Given the description of an element on the screen output the (x, y) to click on. 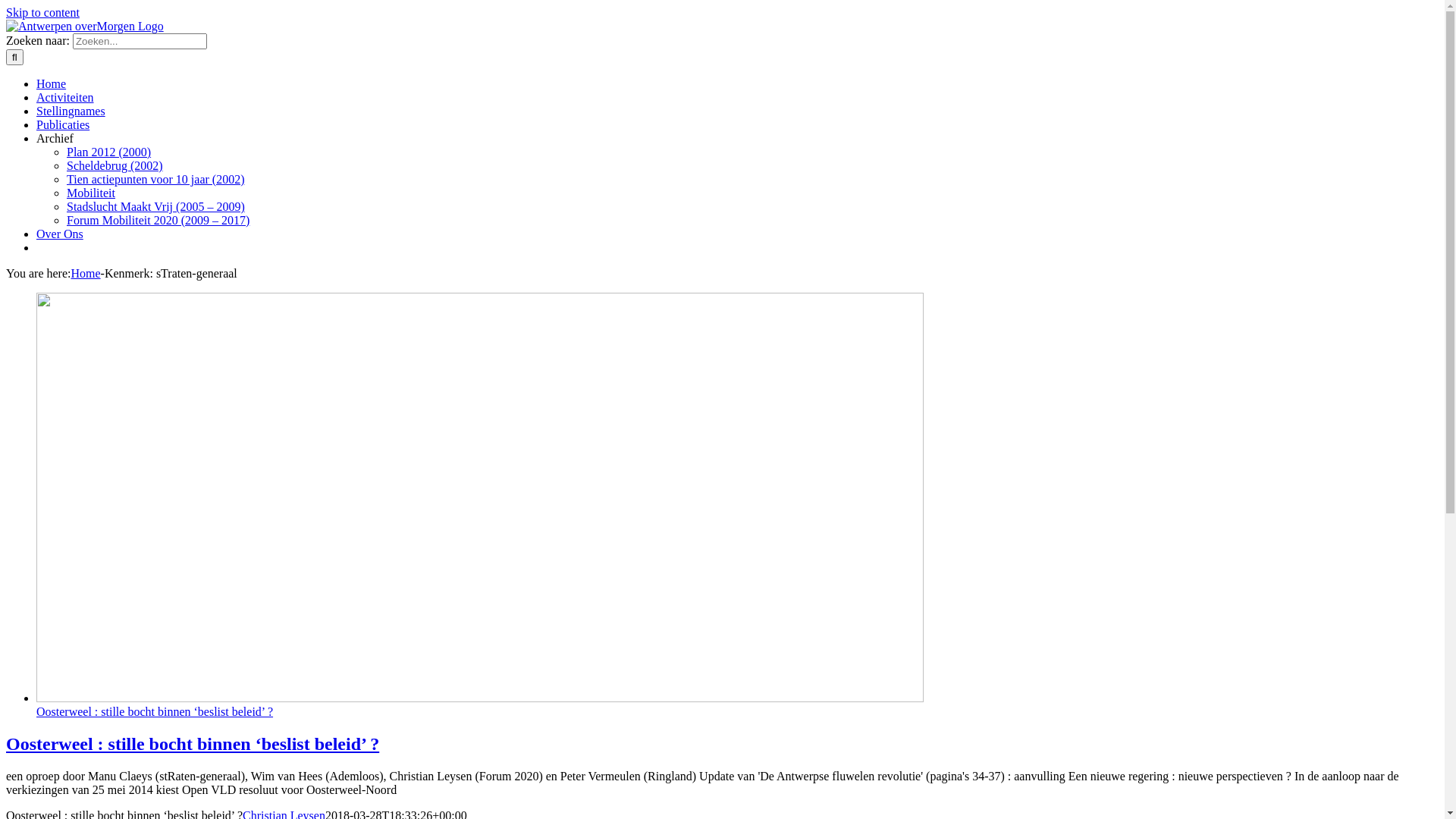
Home Element type: text (61, 83)
Stellingnames Element type: text (80, 110)
Skip to content Element type: text (42, 12)
Archief Element type: text (75, 137)
Tien actiepunten voor 10 jaar (2002) Element type: text (155, 178)
Mobiliteit Element type: text (90, 192)
Over Ons Element type: text (69, 233)
Activiteiten Element type: text (75, 97)
Publicaties Element type: text (72, 124)
Scheldebrug (2002) Element type: text (114, 165)
Plan 2012 (2000) Element type: text (108, 151)
Home Element type: text (85, 272)
